Given the description of an element on the screen output the (x, y) to click on. 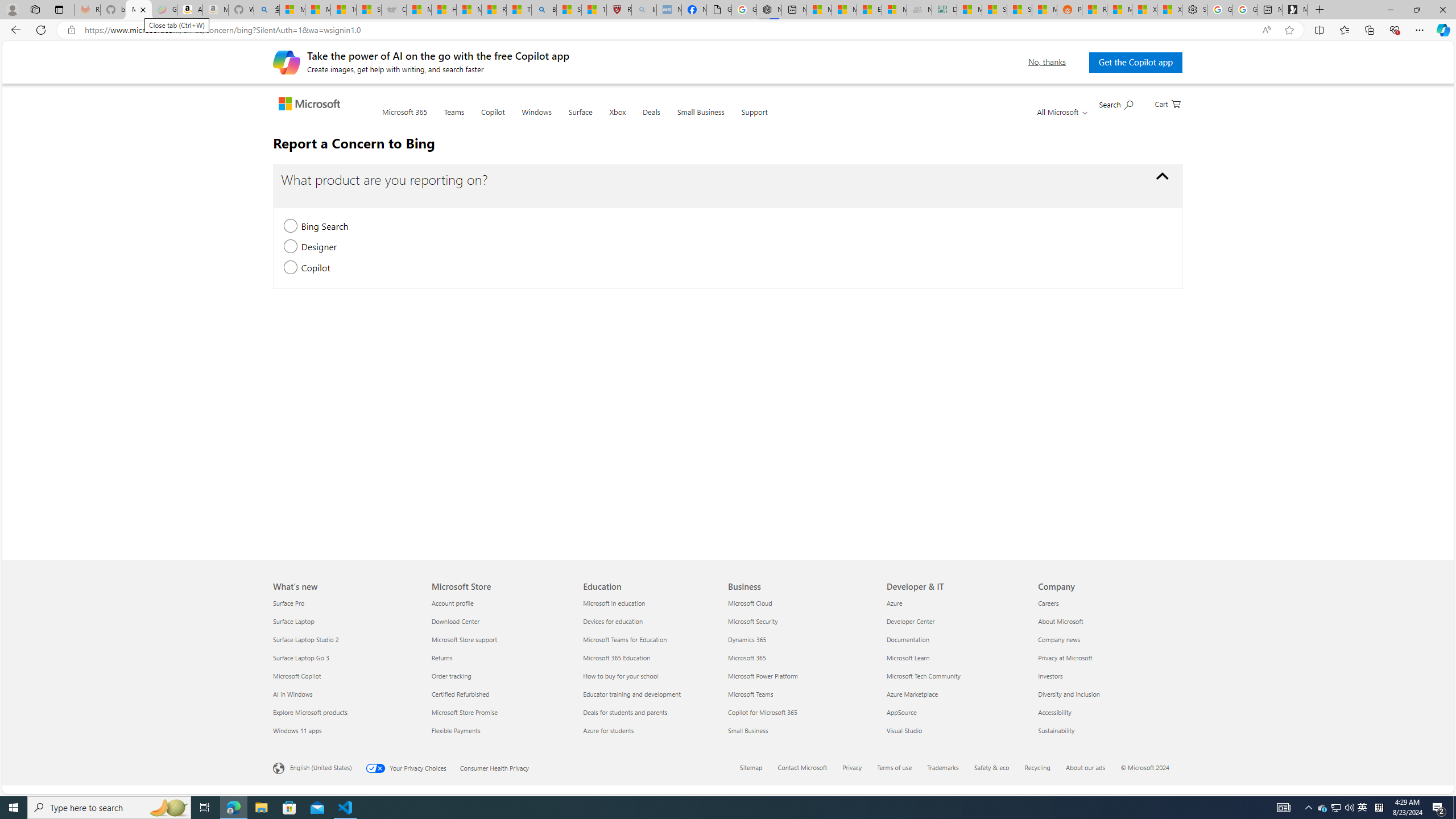
Download Center (499, 620)
Documentation Developer & IT (907, 638)
Order tracking Microsoft Store (450, 675)
Company news (1107, 638)
Recycling (1044, 768)
Copilot for Microsoft 365 Business (762, 711)
R******* | Trusted Community Engagement and Contributions (1094, 9)
Educator training and development (651, 693)
Surface Laptop (345, 620)
Deals (651, 118)
Bing (544, 9)
Microsoft Teams for Education (651, 638)
